Given the description of an element on the screen output the (x, y) to click on. 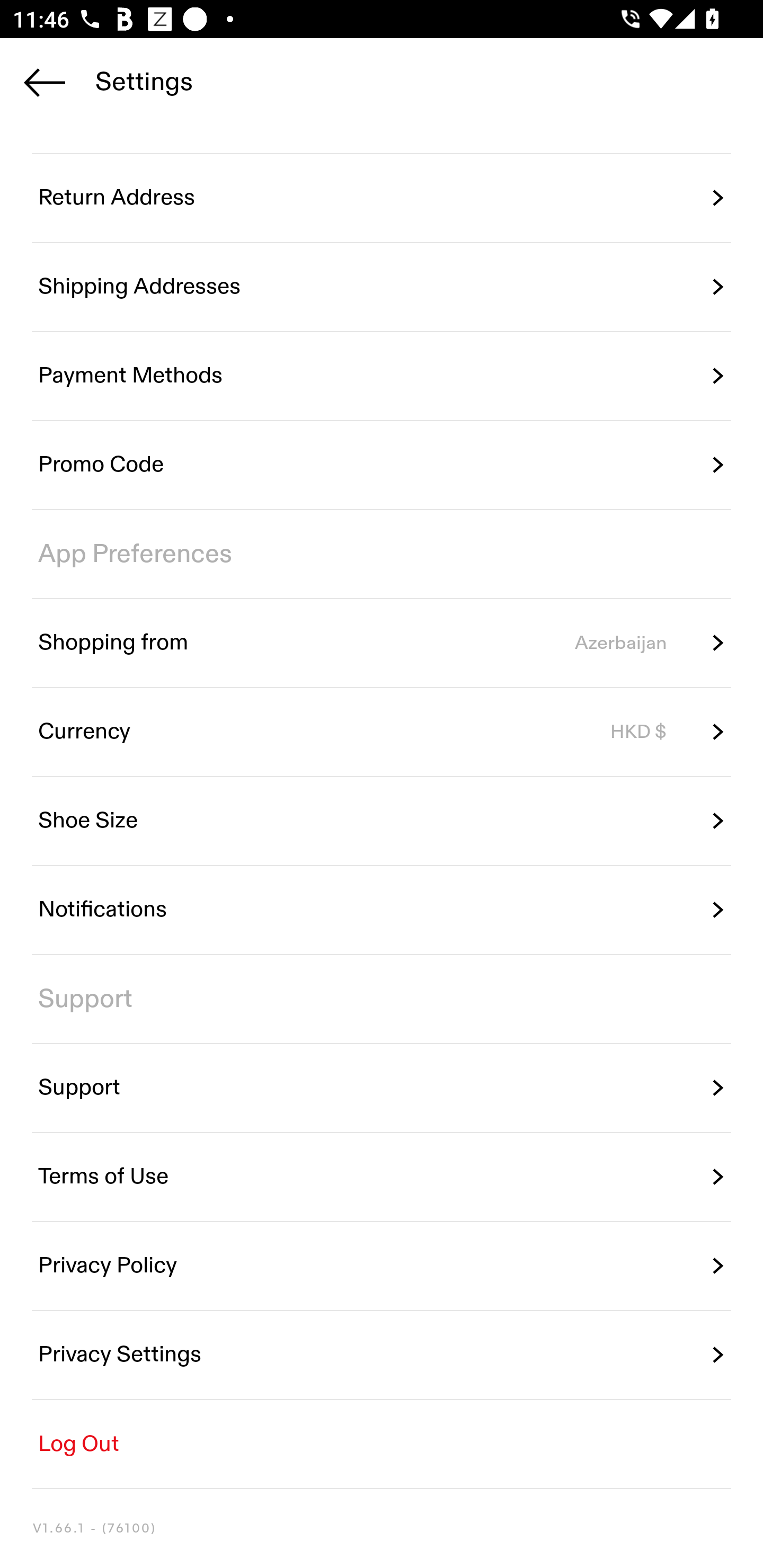
Navigate up (44, 82)
Return Address (381, 198)
Shipping Addresses (381, 286)
Payment Methods (381, 375)
Promo Code (381, 464)
Shopping from Azerbaijan (381, 643)
Currency HKD $ (381, 732)
Shoe Size (381, 820)
Notifications (381, 909)
Support (381, 1088)
Terms of Use (381, 1176)
Privacy Policy (381, 1265)
Privacy Settings (381, 1355)
Log Out (381, 1444)
